Given the description of an element on the screen output the (x, y) to click on. 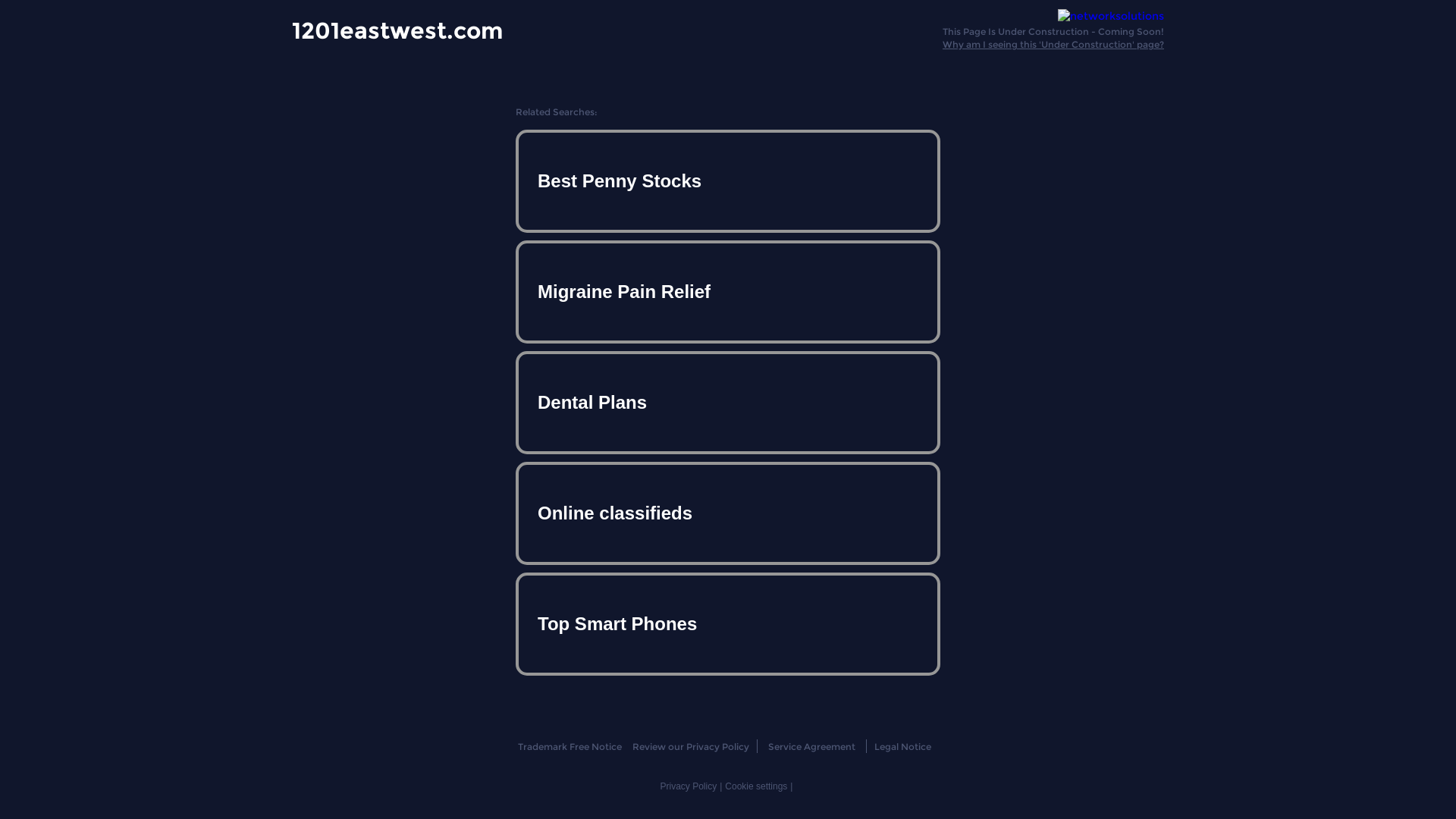
Online classifieds Element type: text (727, 512)
Trademark Free Notice Element type: text (569, 746)
1201eastwest.com Element type: text (396, 29)
Migraine Pain Relief Element type: text (727, 291)
Top Smart Phones Element type: text (727, 623)
Why am I seeing this 'Under Construction' page? Element type: text (1053, 44)
Service Agreement Element type: text (810, 746)
Cookie settings Element type: text (755, 786)
Dental Plans Element type: text (727, 402)
Review our Privacy Policy Element type: text (690, 746)
Best Penny Stocks Element type: text (727, 180)
Legal Notice Element type: text (901, 746)
Privacy Policy Element type: text (687, 786)
